Given the description of an element on the screen output the (x, y) to click on. 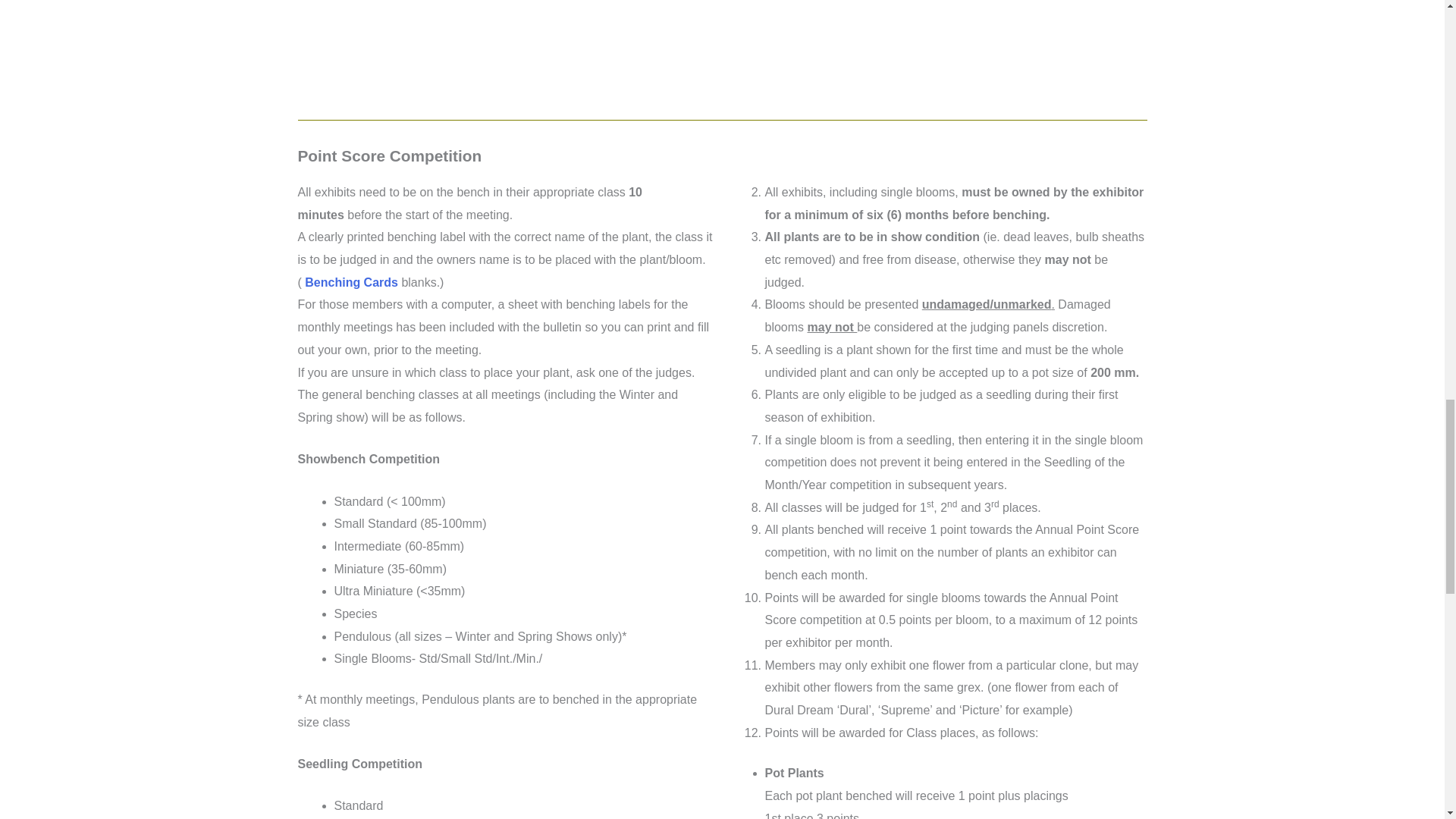
Benching Cards (350, 282)
